Given the description of an element on the screen output the (x, y) to click on. 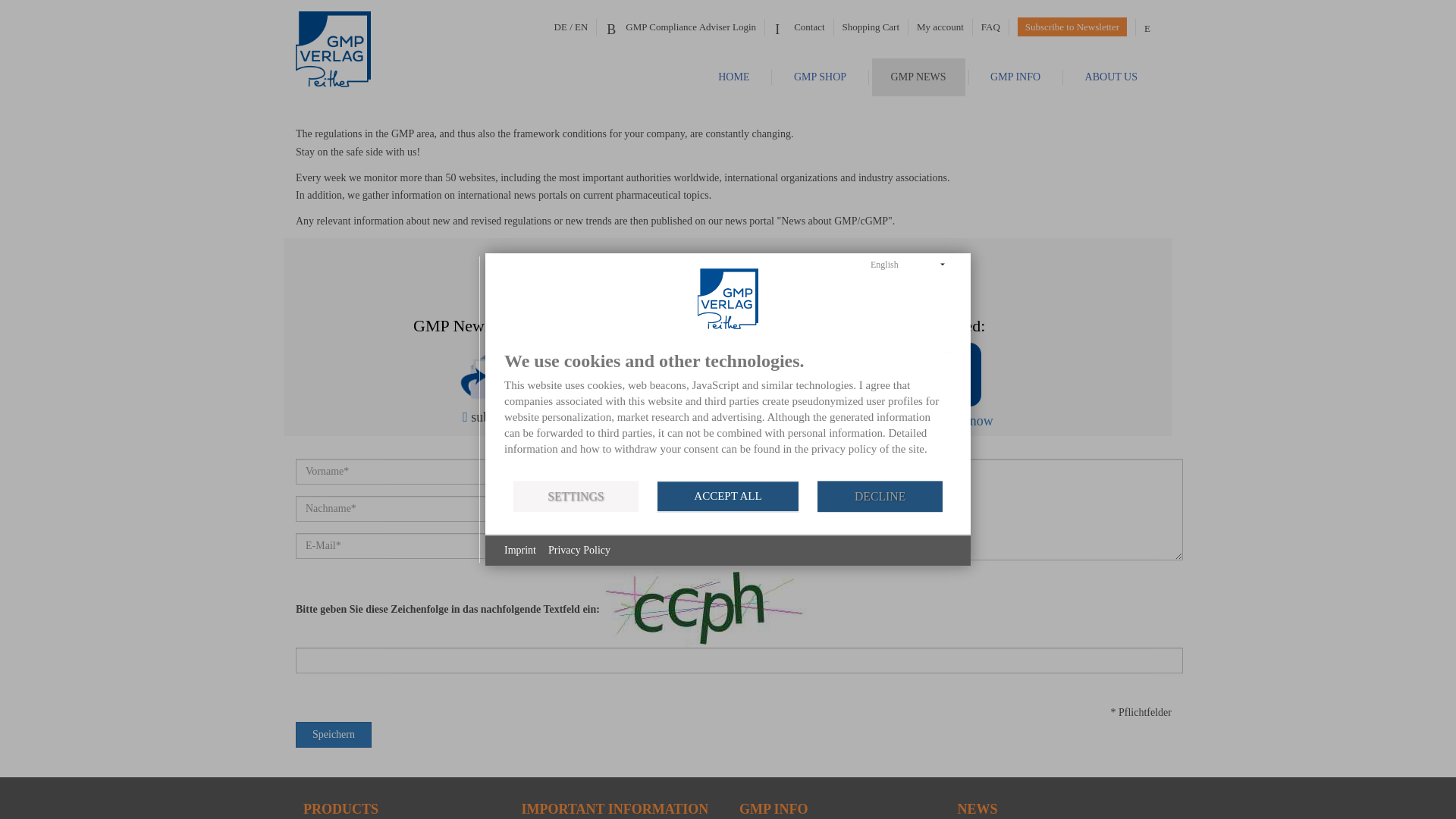
GMP Shop (819, 77)
Contact (798, 27)
GMP News (918, 77)
GMP Info (1015, 77)
GMP Compliance Adviser Login (679, 27)
captcha (705, 609)
HOME (733, 77)
FAQ (990, 27)
My account (940, 27)
Subscribe to Newsletter (1071, 27)
GMP SHOP (819, 77)
Home (733, 77)
Gmp - zur Startseite wechseln (357, 48)
Mein Konto (940, 27)
